Given the description of an element on the screen output the (x, y) to click on. 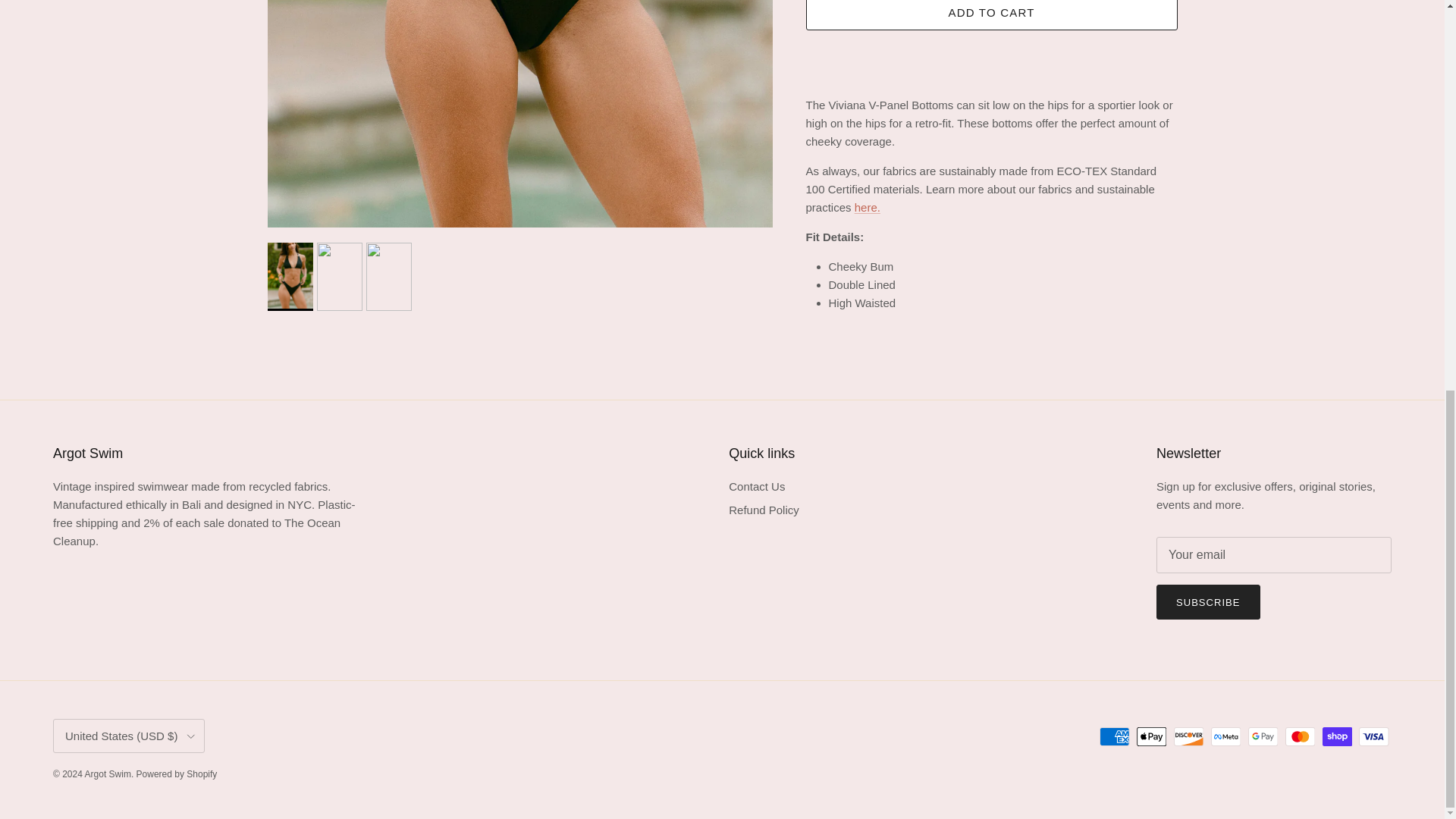
Mastercard (1299, 736)
Visa (1373, 736)
Apple Pay (1151, 736)
Shop Pay (1337, 736)
Meta Pay (1225, 736)
American Express (1114, 736)
Google Pay (1262, 736)
Discover (1188, 736)
